Given the description of an element on the screen output the (x, y) to click on. 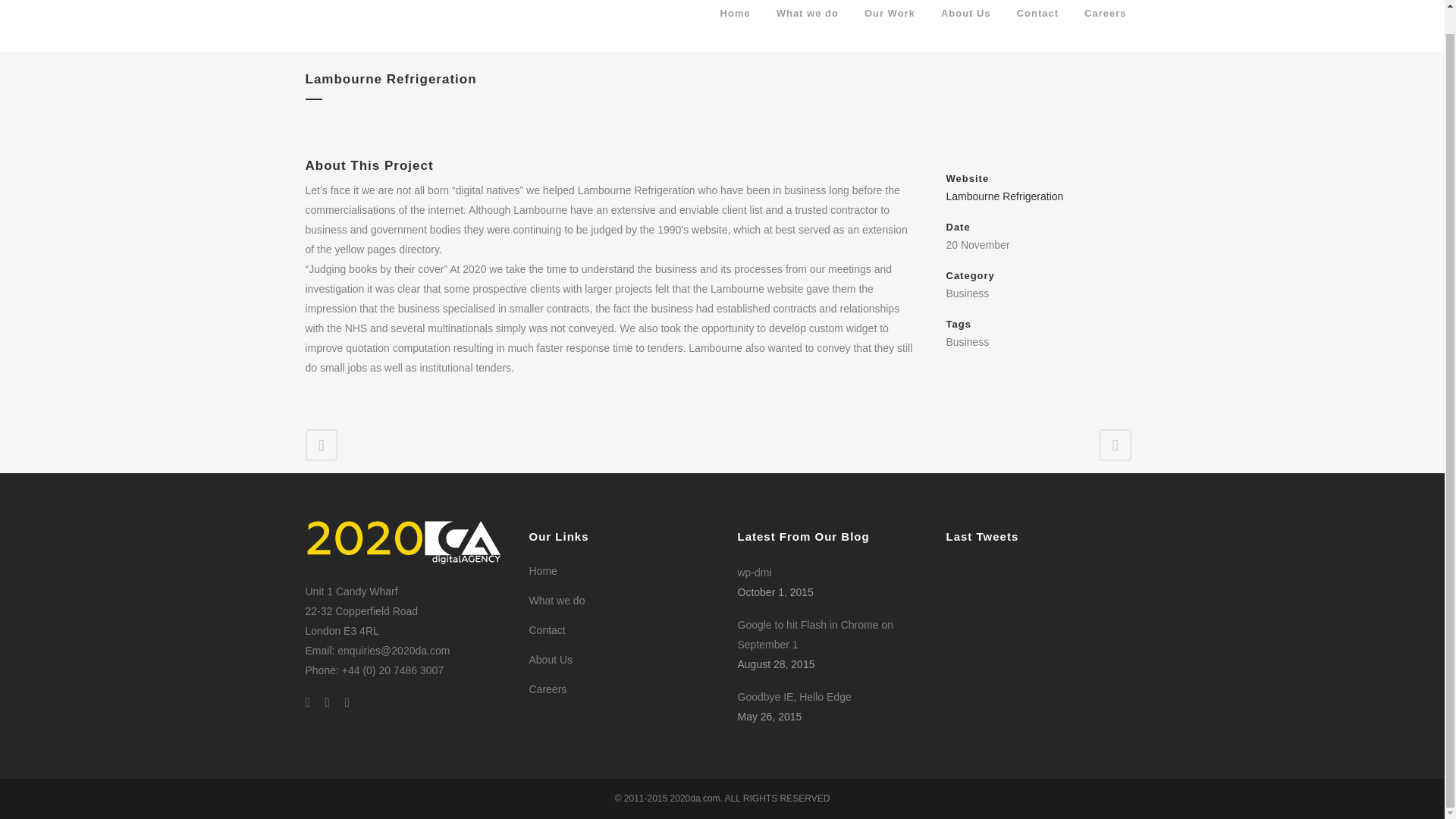
What we do (621, 600)
Goodbye IE, Hello Edge (831, 696)
Contact (621, 629)
Home (734, 25)
wp-dmi (831, 572)
Google to hit Flash in Chrome on September 1 (831, 634)
Careers (621, 688)
Our Work (889, 25)
What we do (806, 25)
Contact (1037, 25)
About Us (621, 659)
Lambourne Refrigeration (1005, 196)
About Us (966, 25)
Careers (1104, 25)
Home (621, 570)
